Given the description of an element on the screen output the (x, y) to click on. 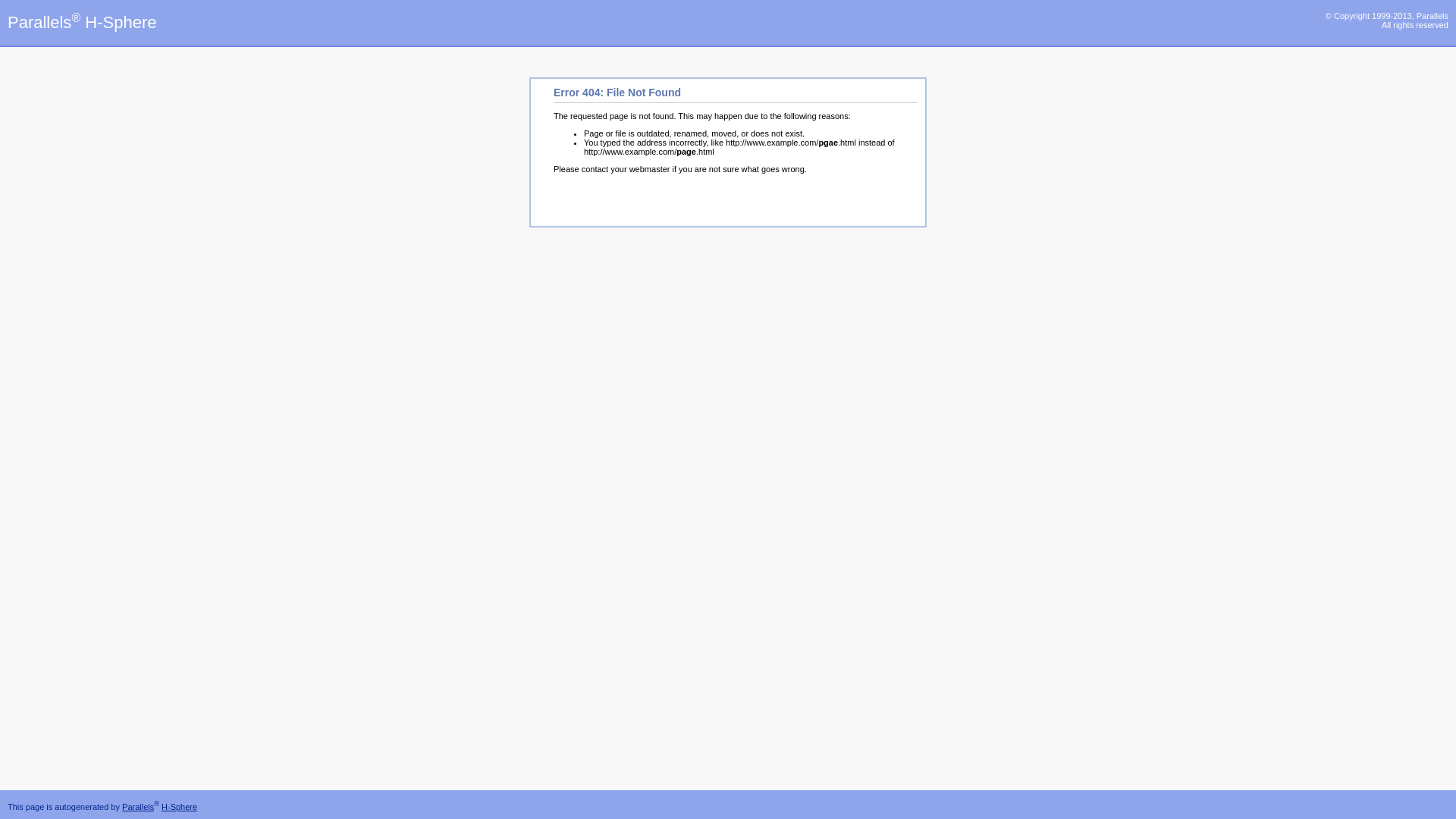
H-Sphere Element type: text (179, 806)
Parallels Element type: text (137, 806)
